Given the description of an element on the screen output the (x, y) to click on. 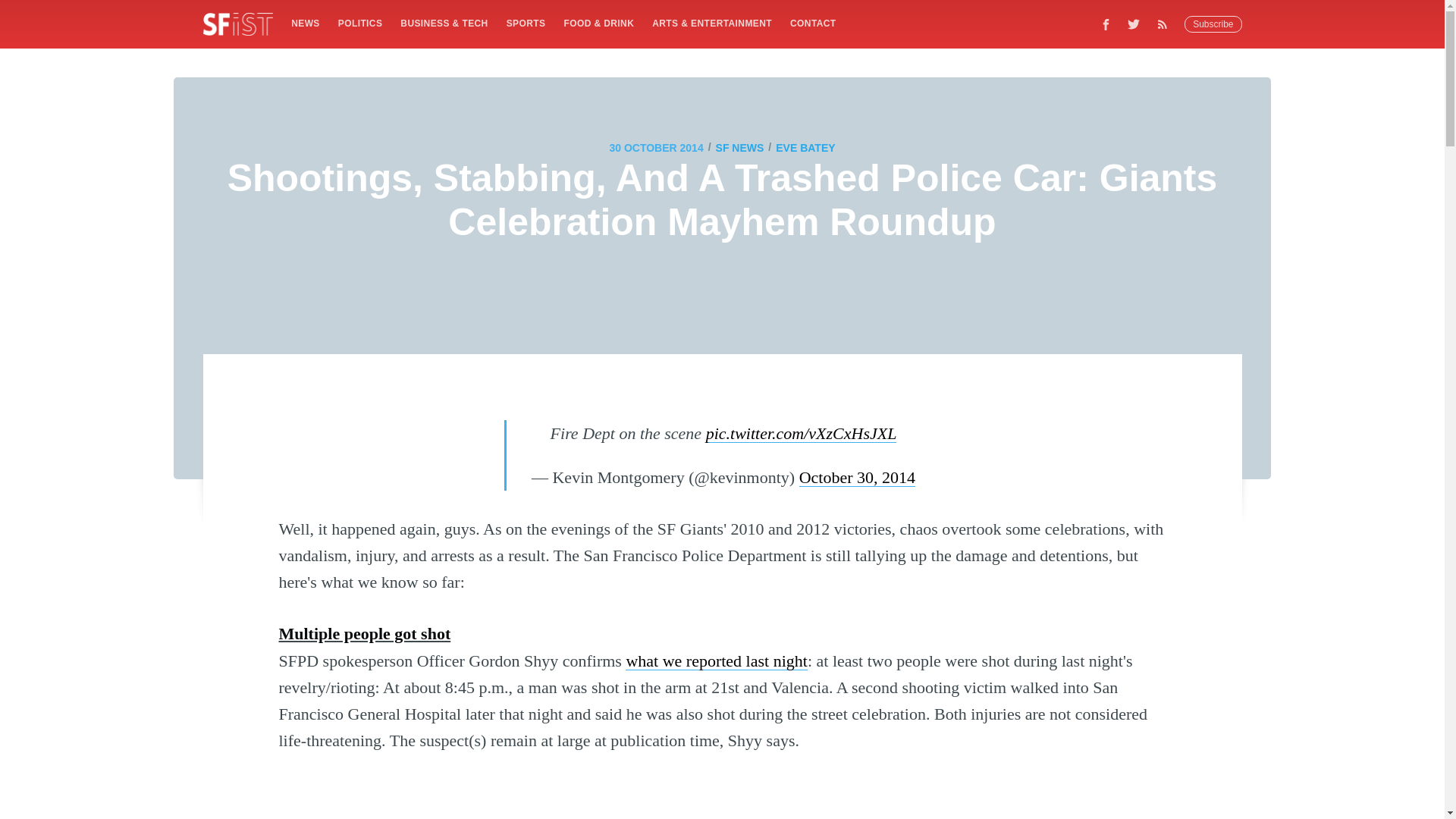
SPORTS (525, 23)
Facebook (1106, 23)
POLITICS (360, 23)
October 30, 2014 (857, 476)
CONTACT (812, 23)
what we reported last night (717, 660)
SF NEWS (740, 147)
Twitter (1133, 23)
RSS (1166, 23)
EVE BATEY (805, 147)
Subscribe (1213, 23)
NEWS (305, 23)
